Given the description of an element on the screen output the (x, y) to click on. 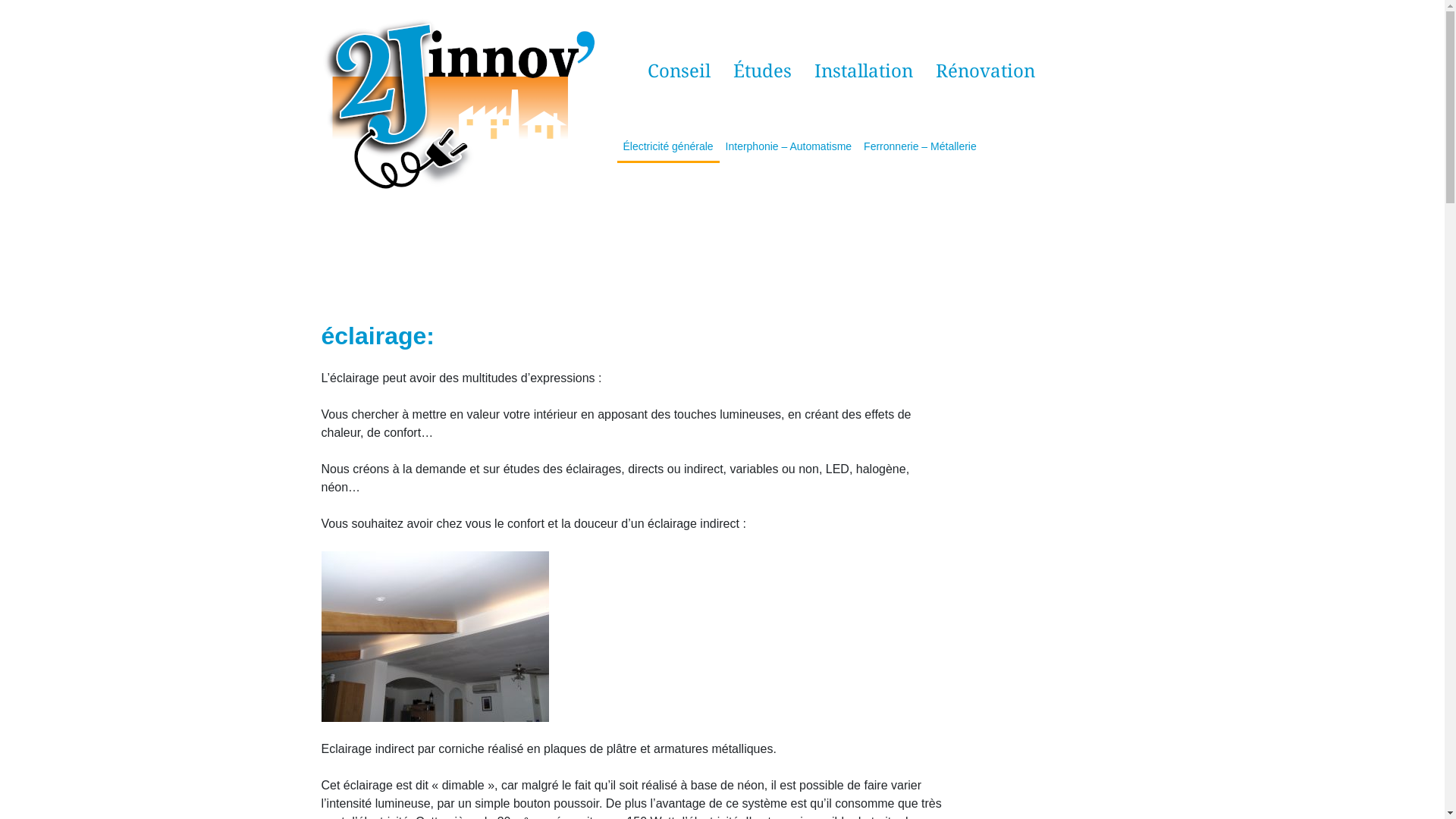
Skip to content Element type: text (0, 0)
